Given the description of an element on the screen output the (x, y) to click on. 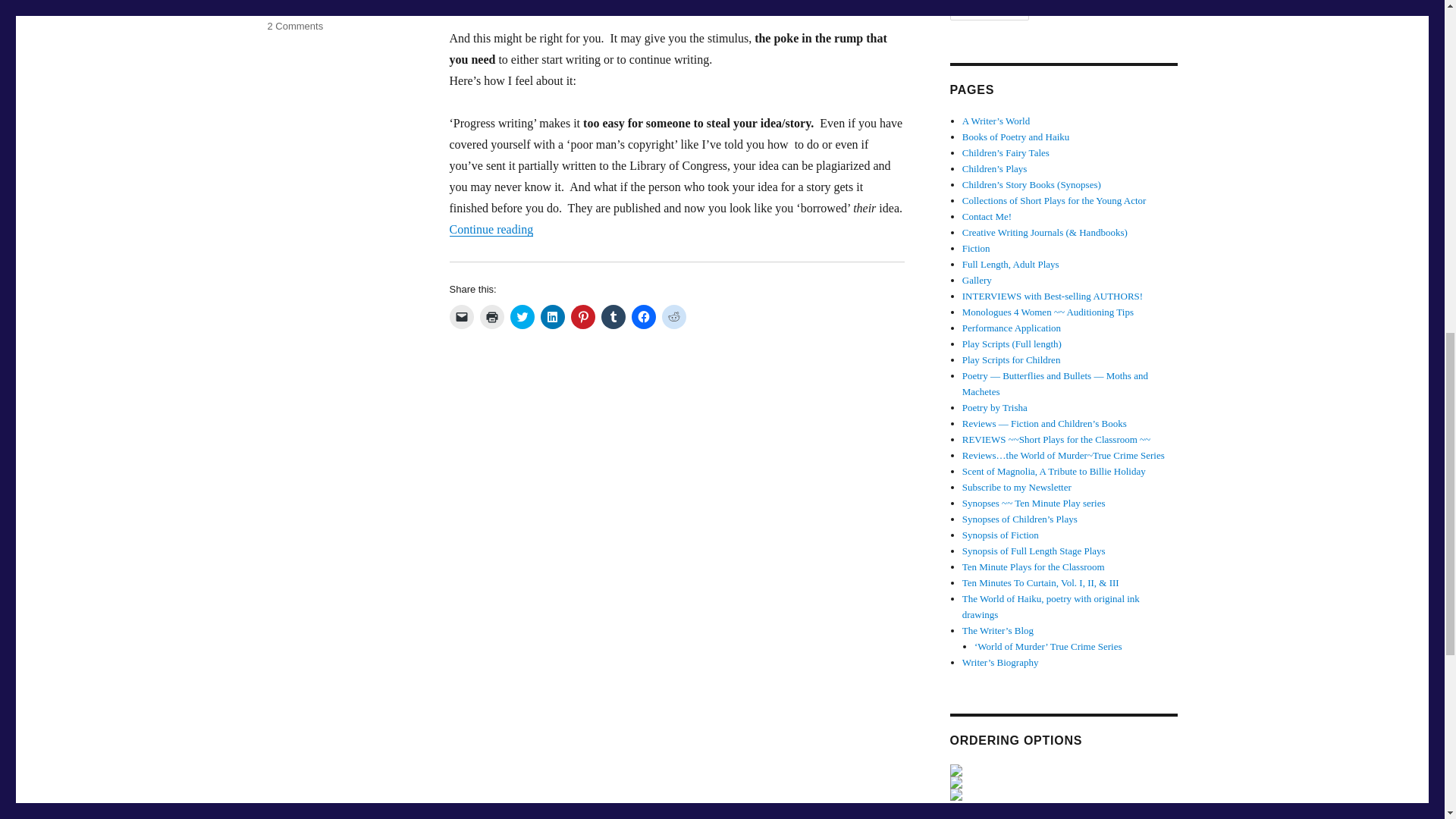
Click to print (491, 316)
Click to share on Tumblr (611, 316)
Click to share on Facebook (642, 316)
Click to share on Twitter (521, 316)
Click to email a link to a friend (460, 316)
Click to share on Pinterest (582, 316)
Subscribe (989, 10)
Click to share on LinkedIn (552, 316)
Click to share on Reddit (673, 316)
